Given the description of an element on the screen output the (x, y) to click on. 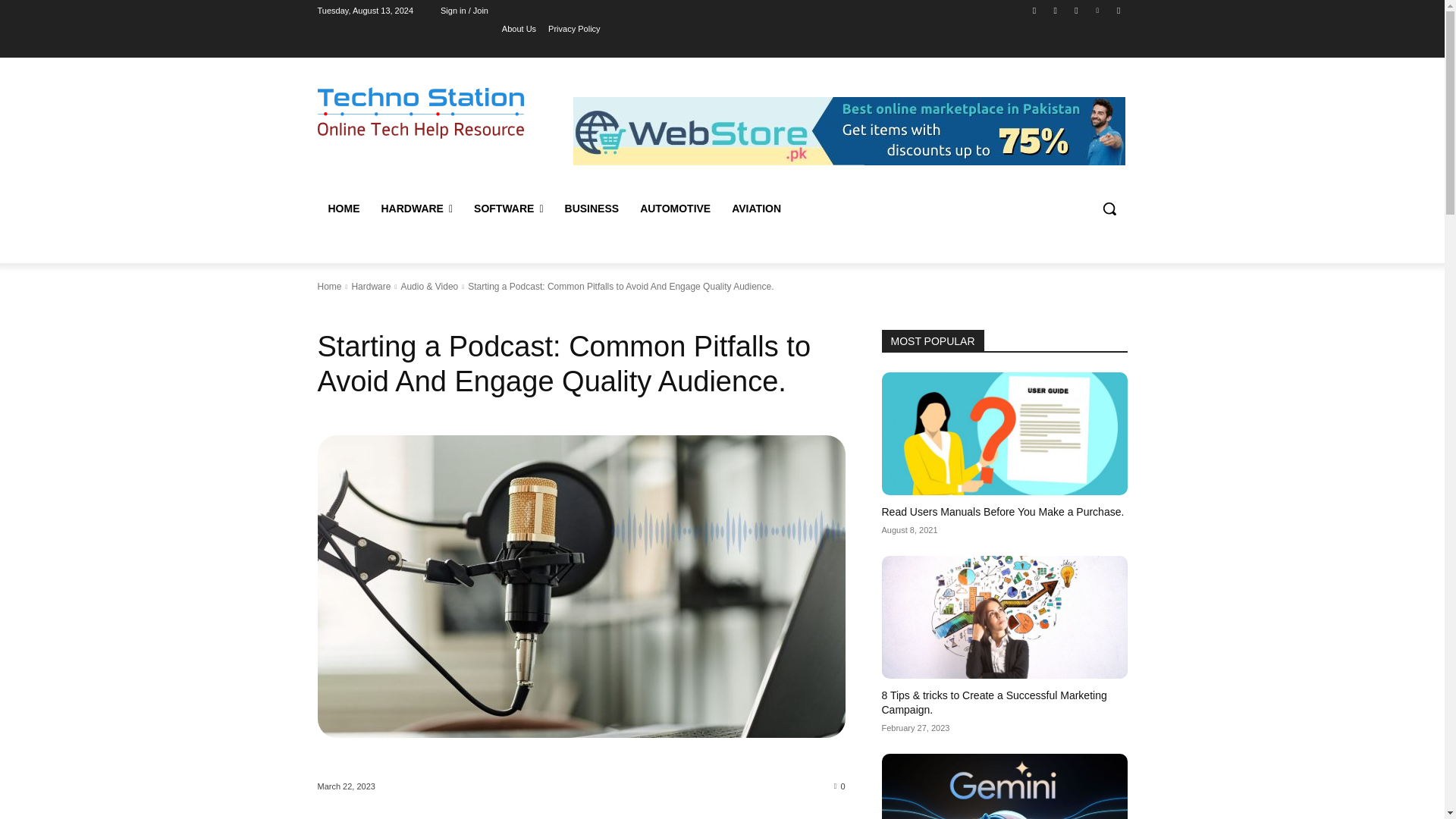
About Us (518, 28)
Youtube (1117, 9)
HARDWARE (416, 208)
HOME (343, 208)
Instagram (1055, 9)
Facebook (1034, 9)
Twitter (1075, 9)
Vimeo (1097, 9)
Online Tech Help Recource! (419, 112)
